Given the description of an element on the screen output the (x, y) to click on. 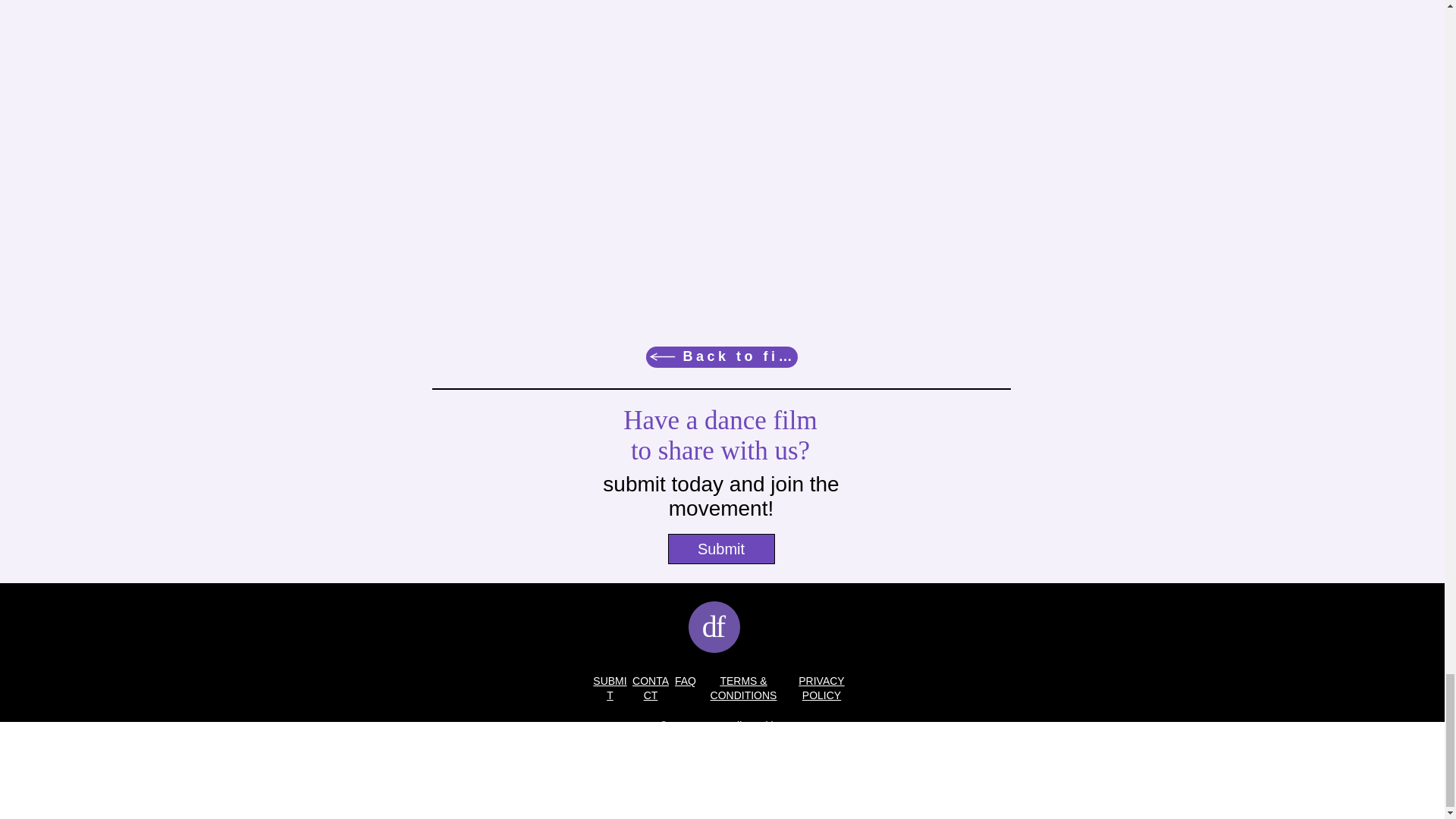
FAQ (685, 680)
Submit (720, 548)
CONTACT (649, 687)
SUBMIT (609, 687)
Back to films (721, 356)
PRIVACY POLICY (820, 687)
